Given the description of an element on the screen output the (x, y) to click on. 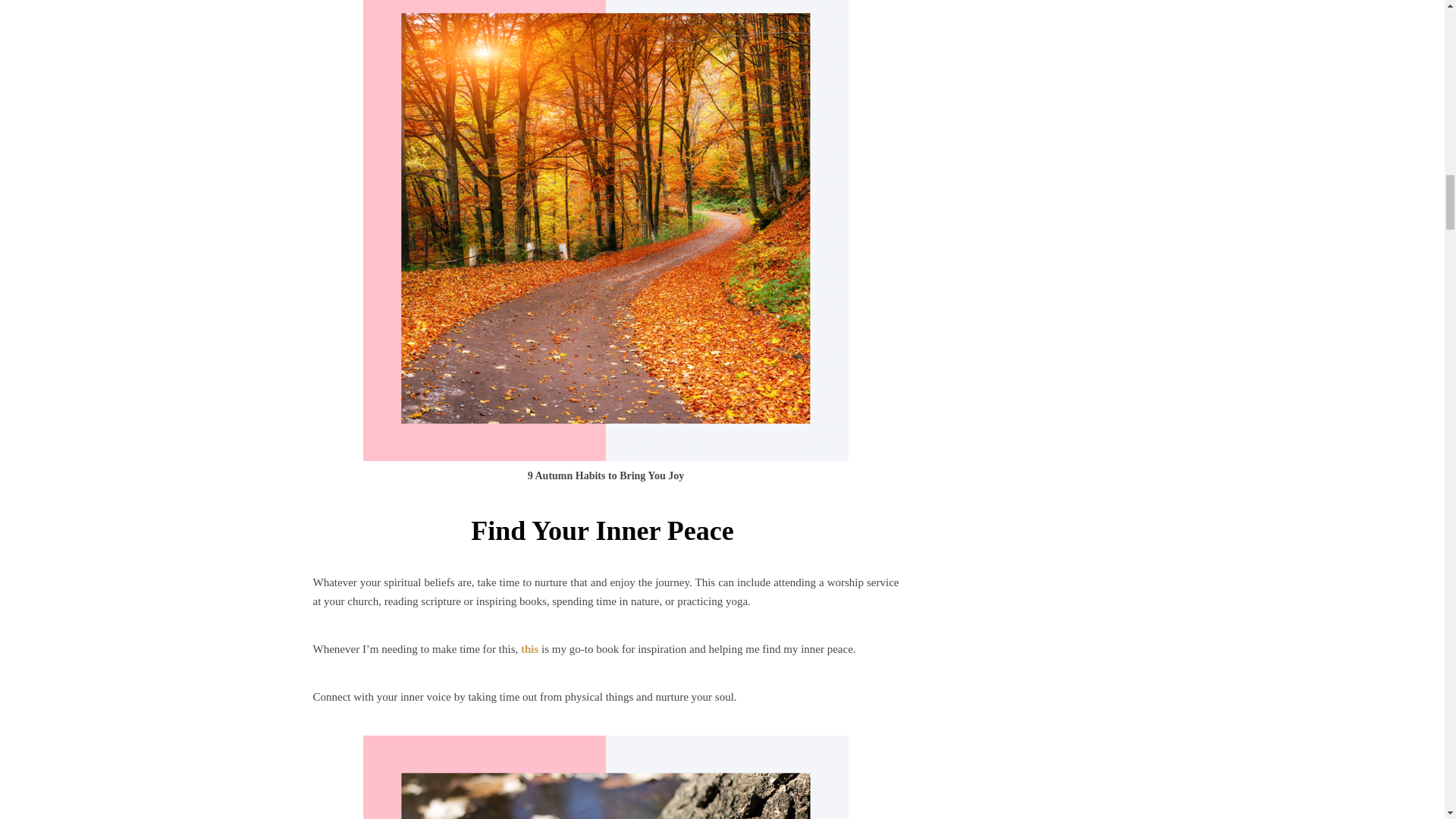
this (529, 648)
